Given the description of an element on the screen output the (x, y) to click on. 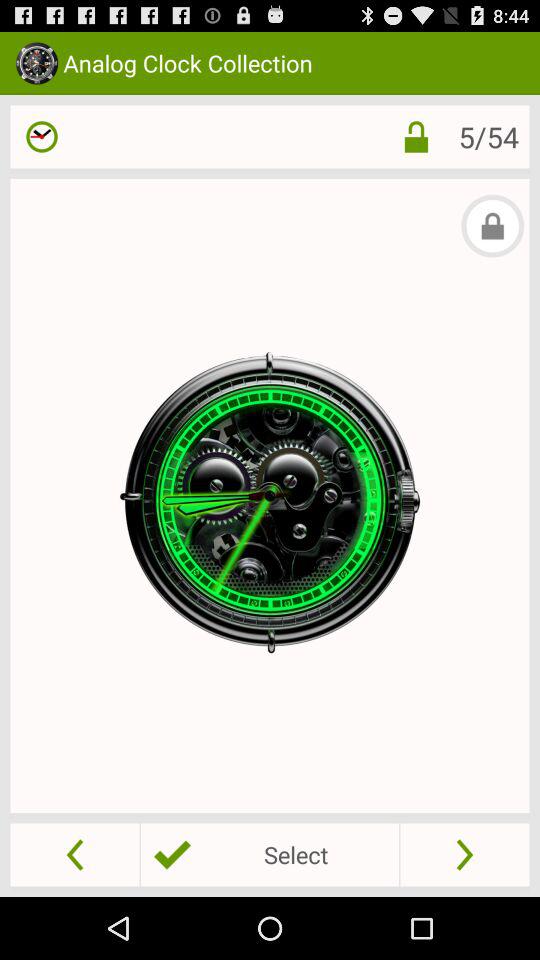
press the select at the bottom (269, 854)
